Given the description of an element on the screen output the (x, y) to click on. 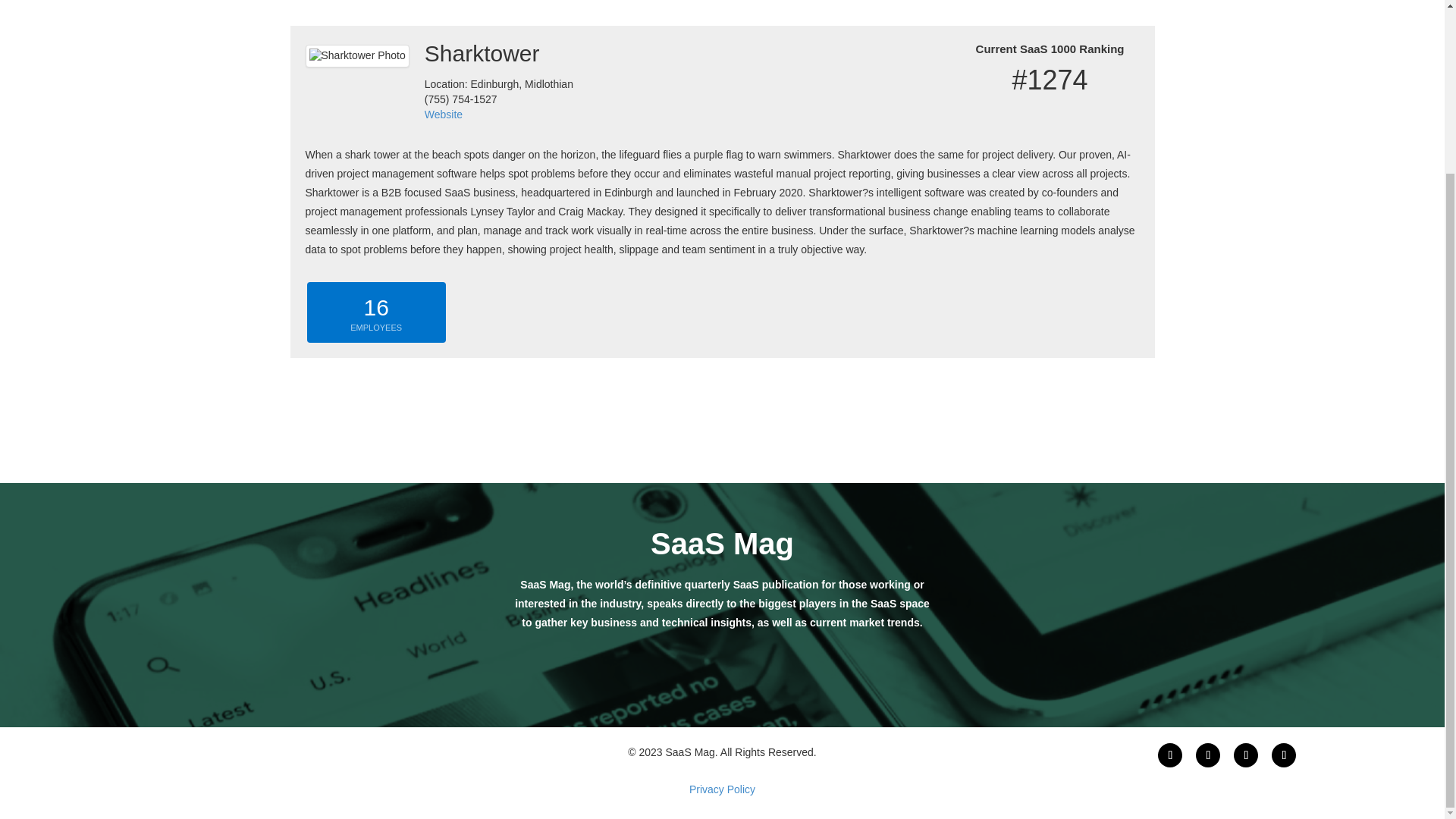
Sharktower (499, 56)
Privacy Policy (721, 788)
Follow on Instagram (1283, 754)
Follow on Facebook (1169, 754)
Follow on X (1207, 754)
Website (444, 114)
Sharktower Photo (356, 56)
Follow on LinkedIn (1245, 754)
